Given the description of an element on the screen output the (x, y) to click on. 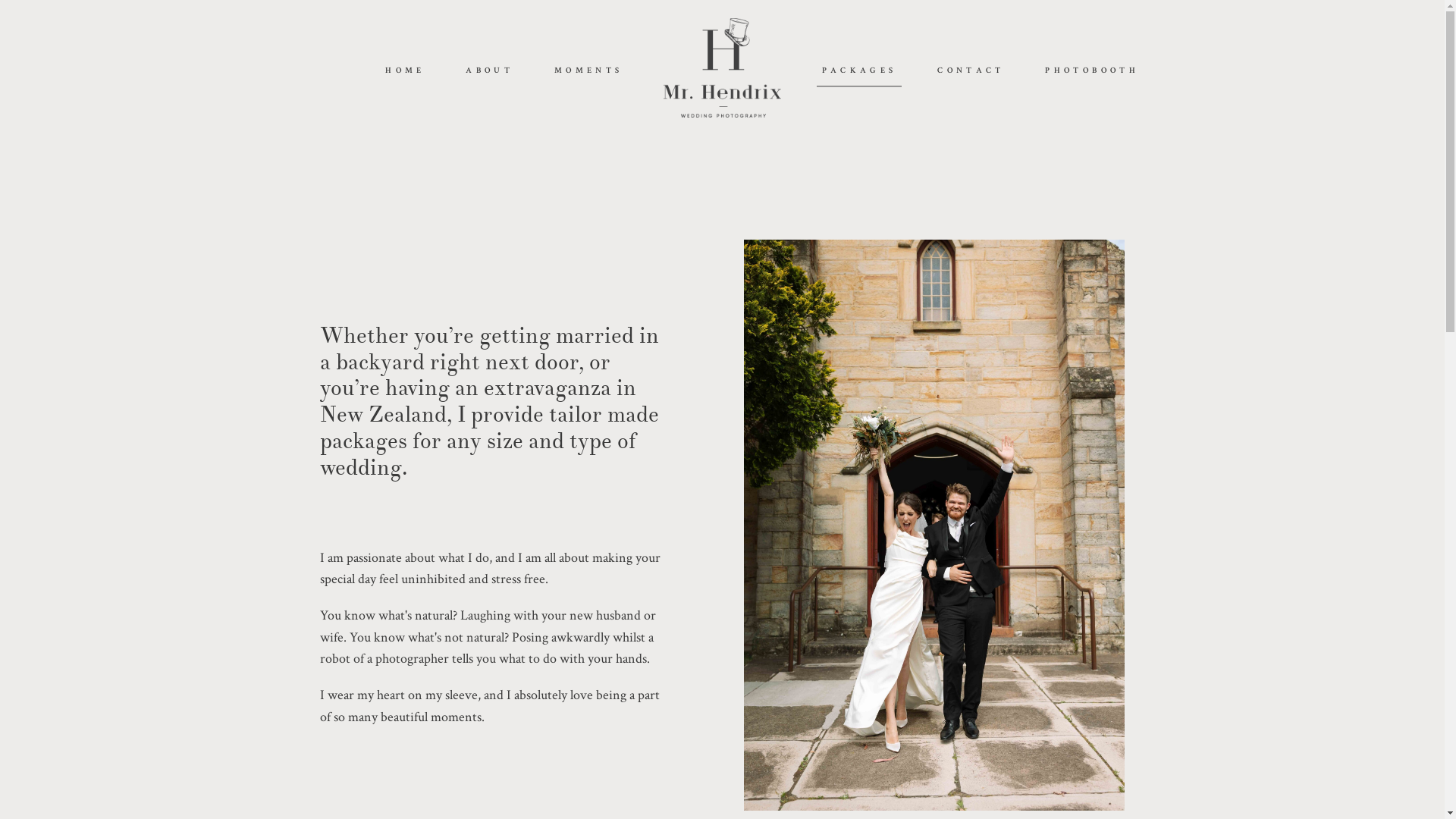
MOMENTS Element type: text (588, 70)
PHOTOBOOTH Element type: text (1091, 70)
PACKAGES Element type: text (859, 70)
ABOUT Element type: text (489, 70)
CONTACT Element type: text (970, 70)
HOME Element type: text (404, 70)
